Given the description of an element on the screen output the (x, y) to click on. 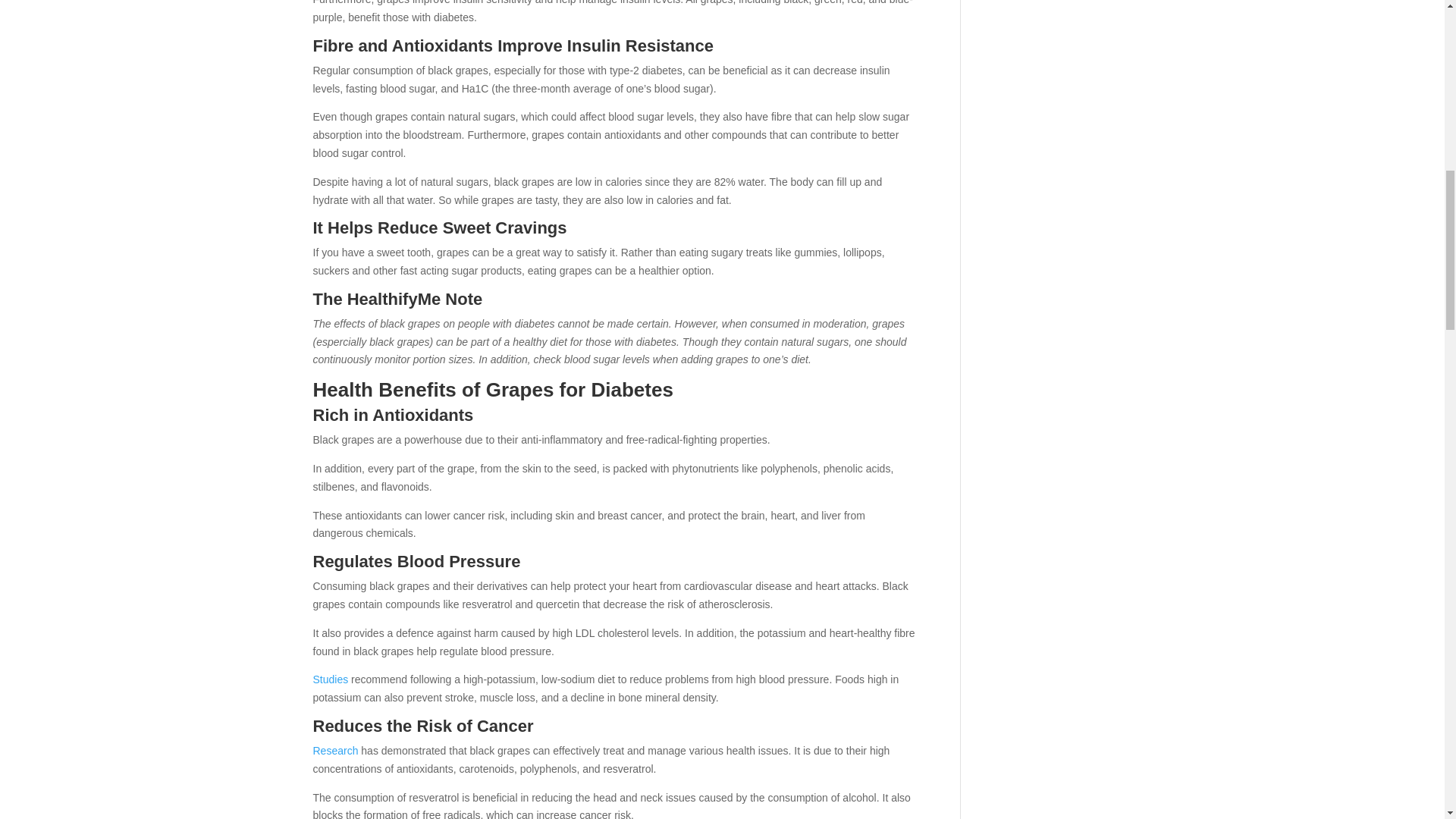
Research (335, 750)
Studies (330, 679)
